Given the description of an element on the screen output the (x, y) to click on. 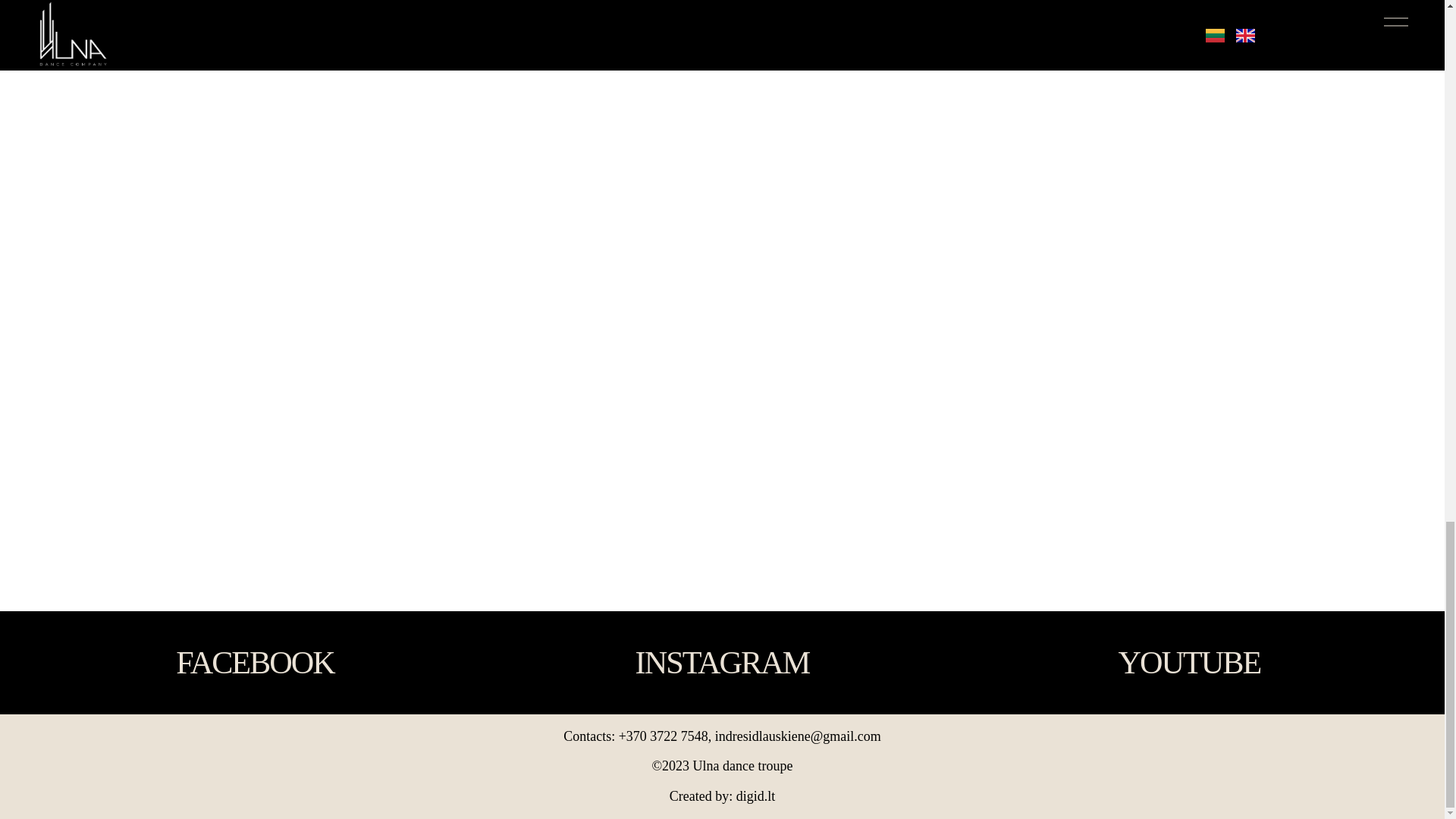
INSTAGRAM (721, 662)
Created by: digid.lt (721, 795)
YOUTUBE (1189, 662)
FACEBOOK (256, 662)
